Given the description of an element on the screen output the (x, y) to click on. 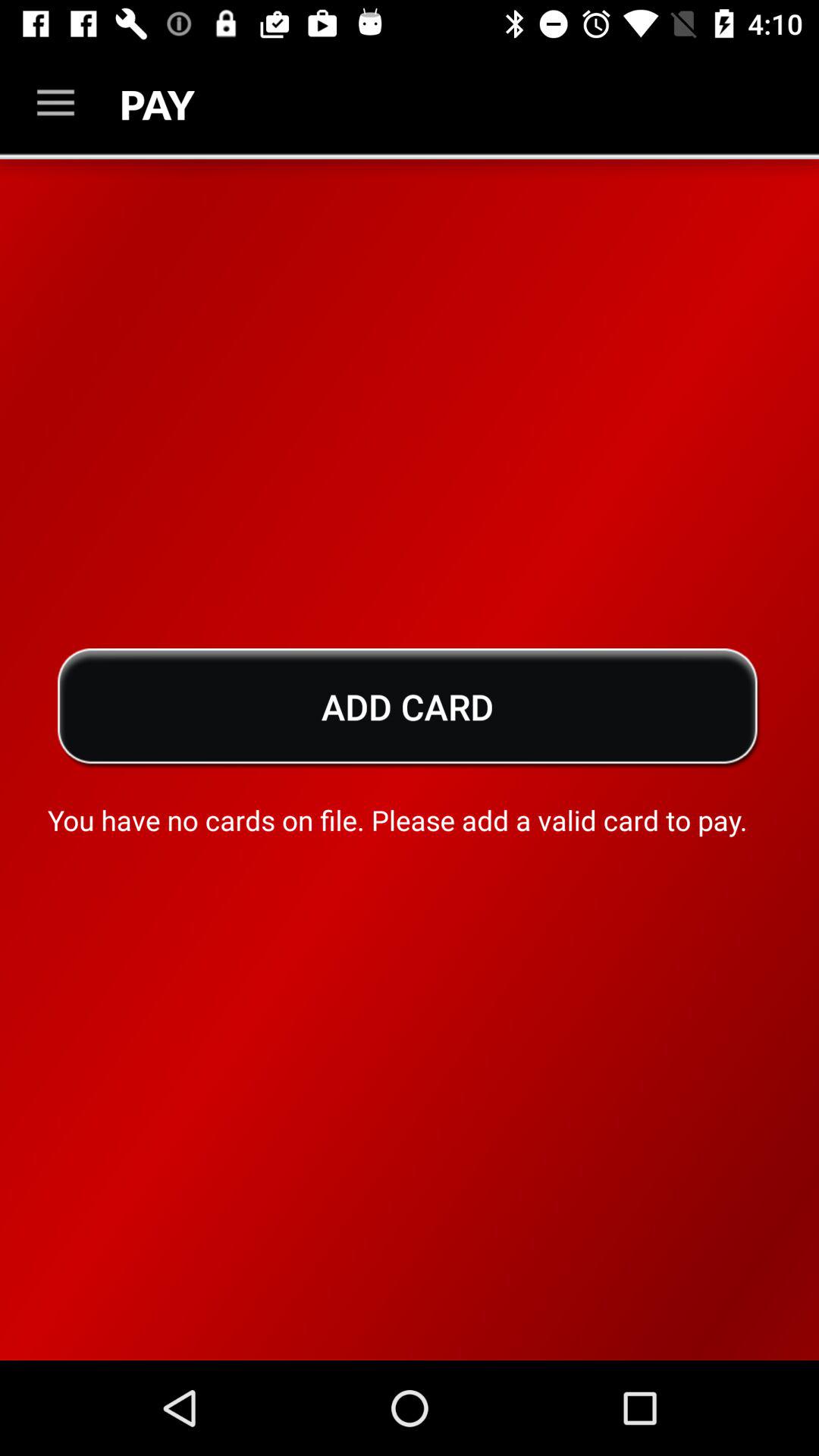
choose icon above the add card icon (55, 103)
